Given the description of an element on the screen output the (x, y) to click on. 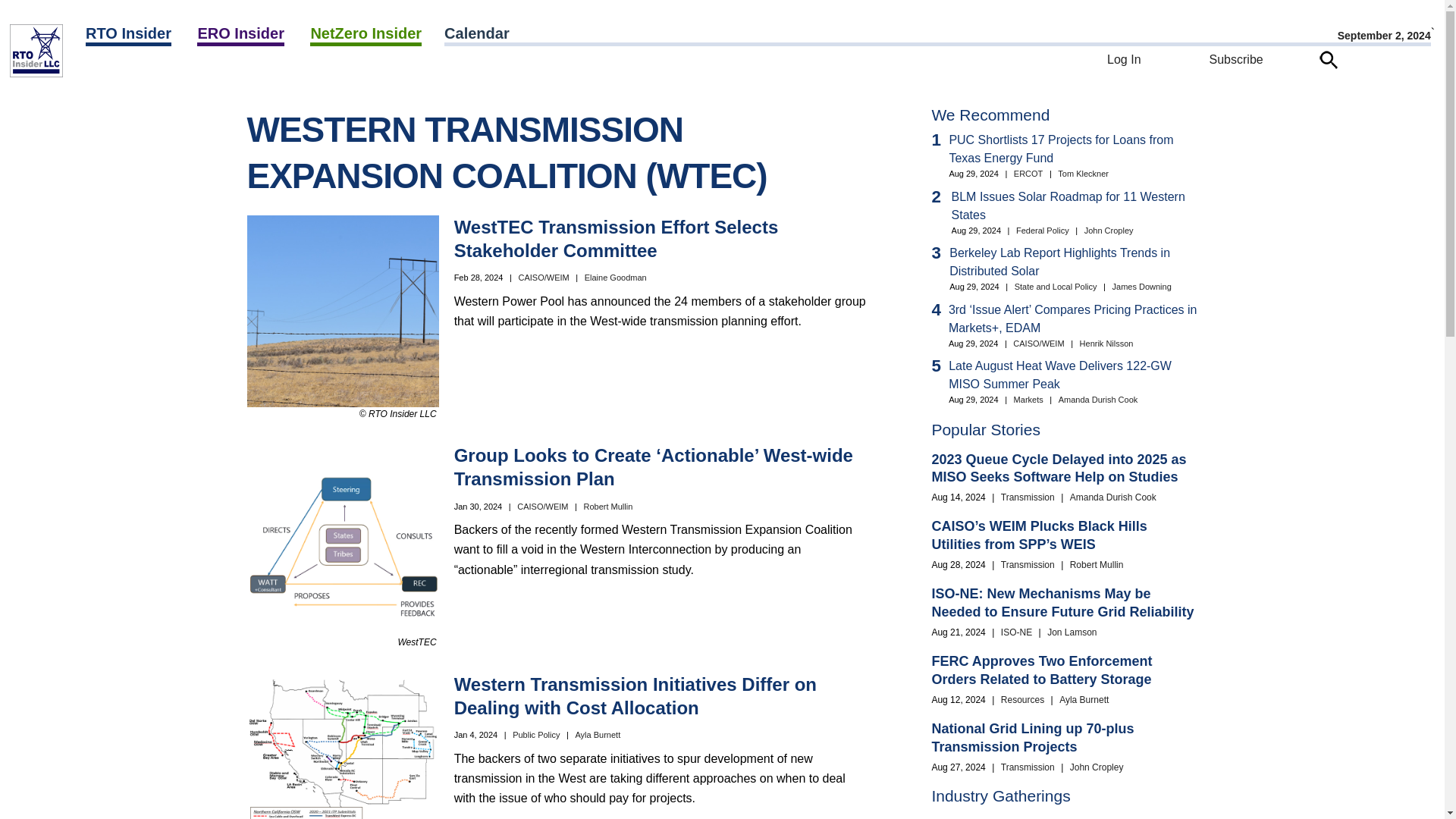
MISO (182, 72)
RTO Insider (128, 34)
ERCOT (168, 72)
ISO-NE (178, 72)
